Given the description of an element on the screen output the (x, y) to click on. 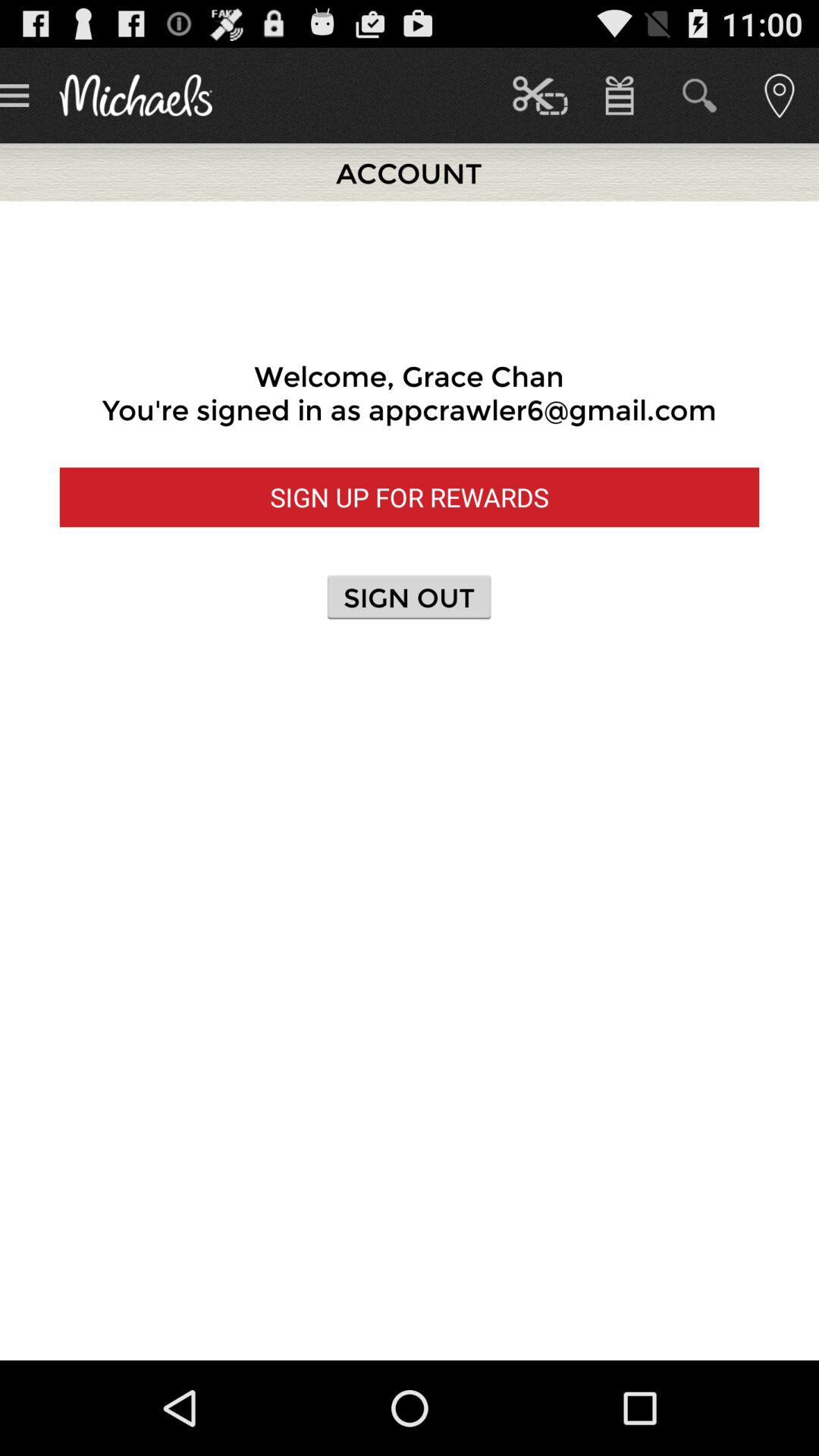
turn on app below the you re signed item (409, 497)
